Given the description of an element on the screen output the (x, y) to click on. 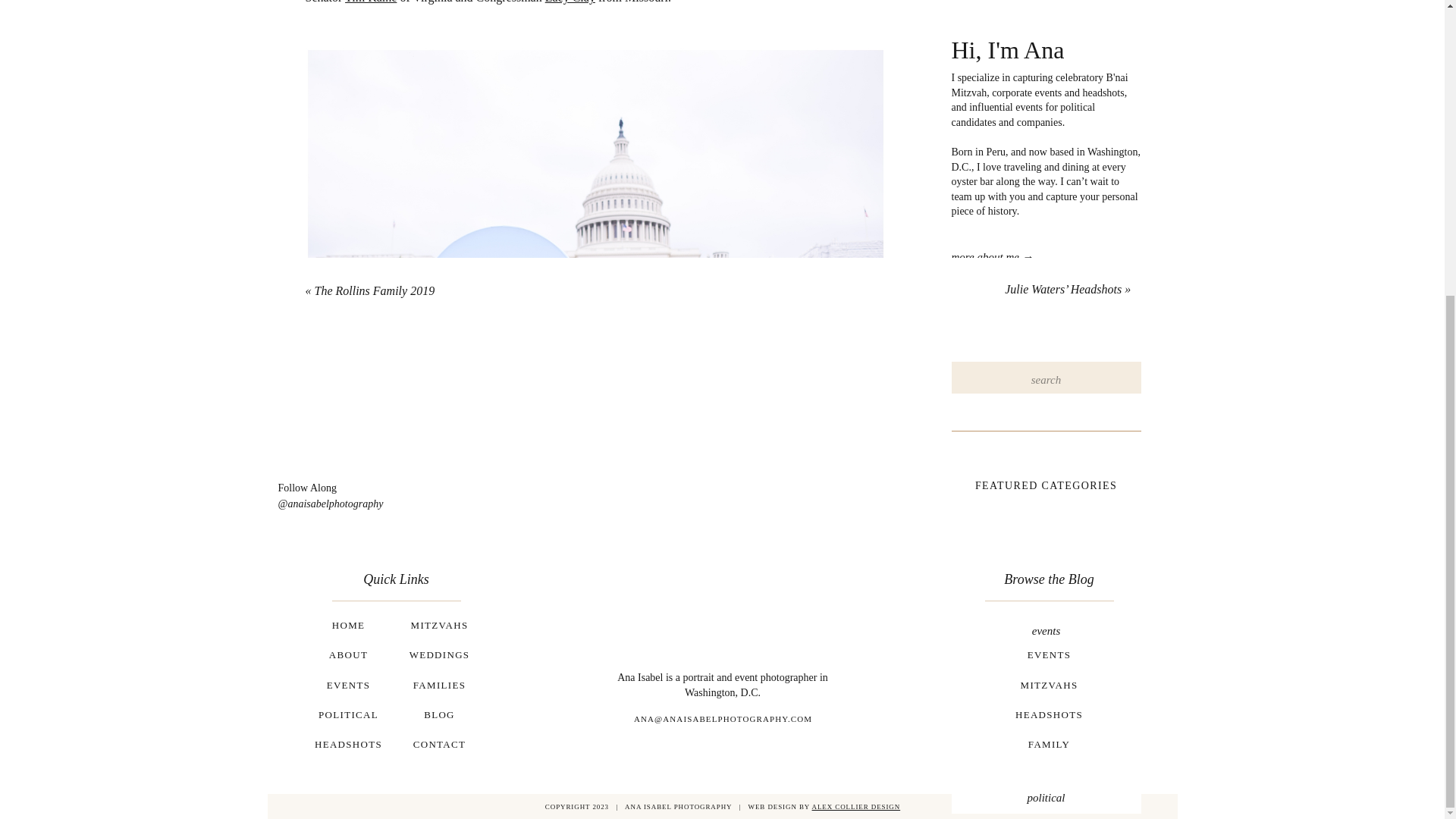
EVENTS (347, 689)
events (1045, 634)
political (1045, 801)
Lacy Clay (569, 2)
HEADSHOTS (347, 748)
POLITICAL (347, 718)
MITZVAHS (438, 629)
Tim Kaine (370, 2)
ABOUT (347, 658)
HOME (347, 629)
The Rollins Family 2019 (373, 290)
